Given the description of an element on the screen output the (x, y) to click on. 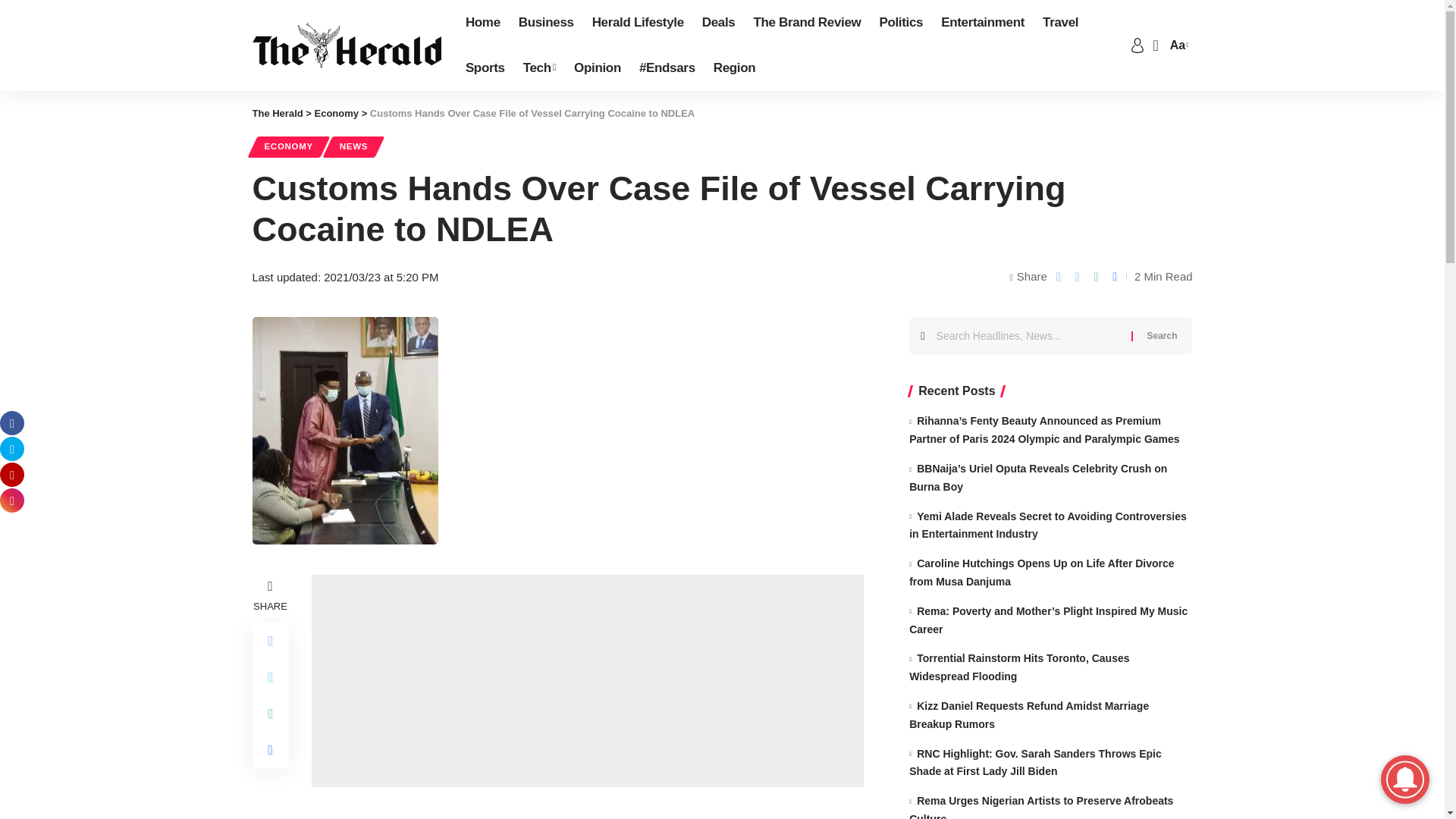
Business (546, 22)
The Brand Review (806, 22)
Herald Lifestyle (638, 22)
The Herald (346, 44)
Politics (900, 22)
Go to the Economy Category archives. (336, 112)
Search (1161, 335)
Entertainment (982, 22)
Travel (1060, 22)
Aa (1177, 45)
Advertisement (587, 680)
Deals (718, 22)
Home (483, 22)
Tech (538, 67)
Go to The Herald. (276, 112)
